Given the description of an element on the screen output the (x, y) to click on. 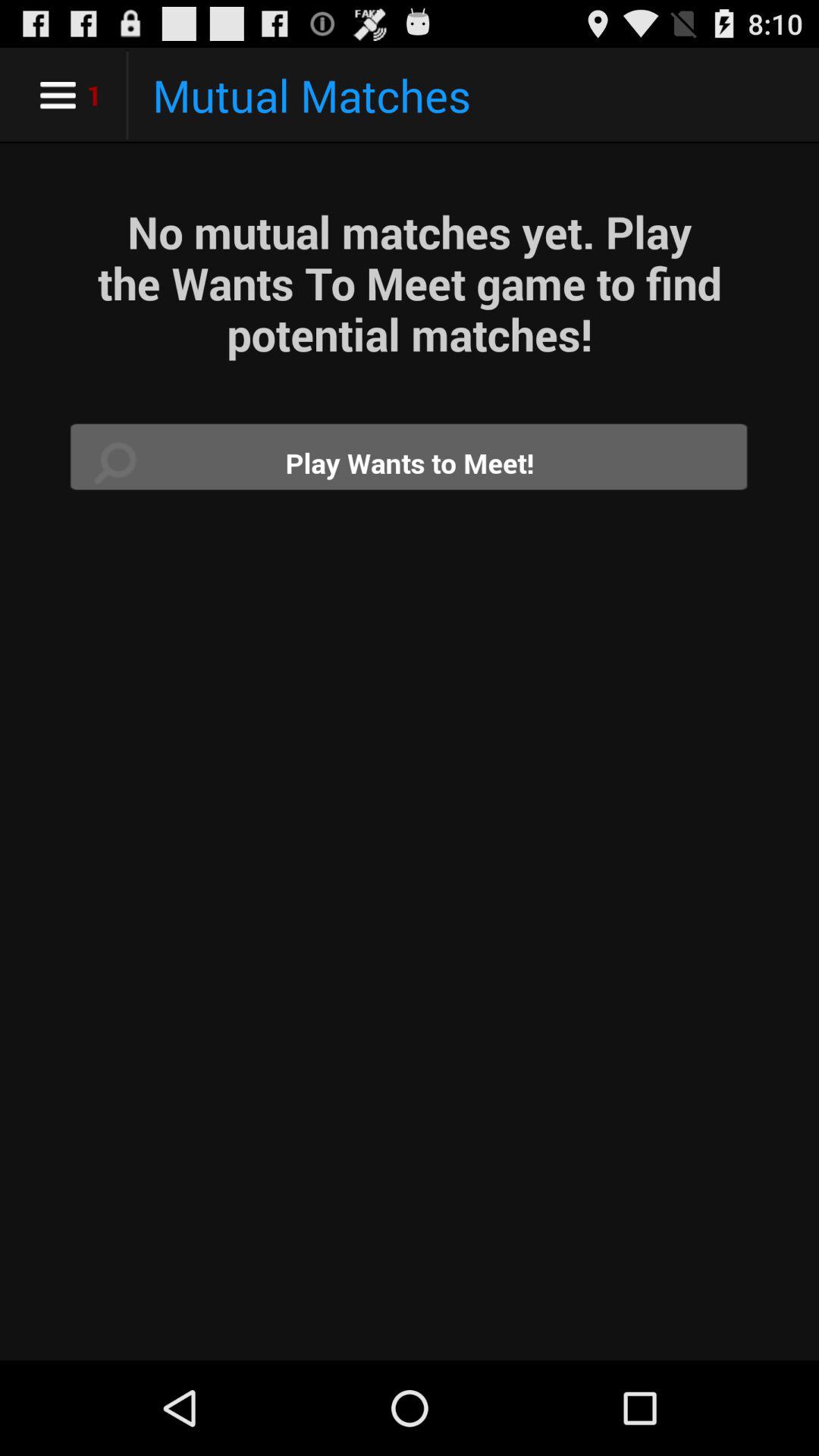
open app below the no mutual matches icon (409, 462)
